Given the description of an element on the screen output the (x, y) to click on. 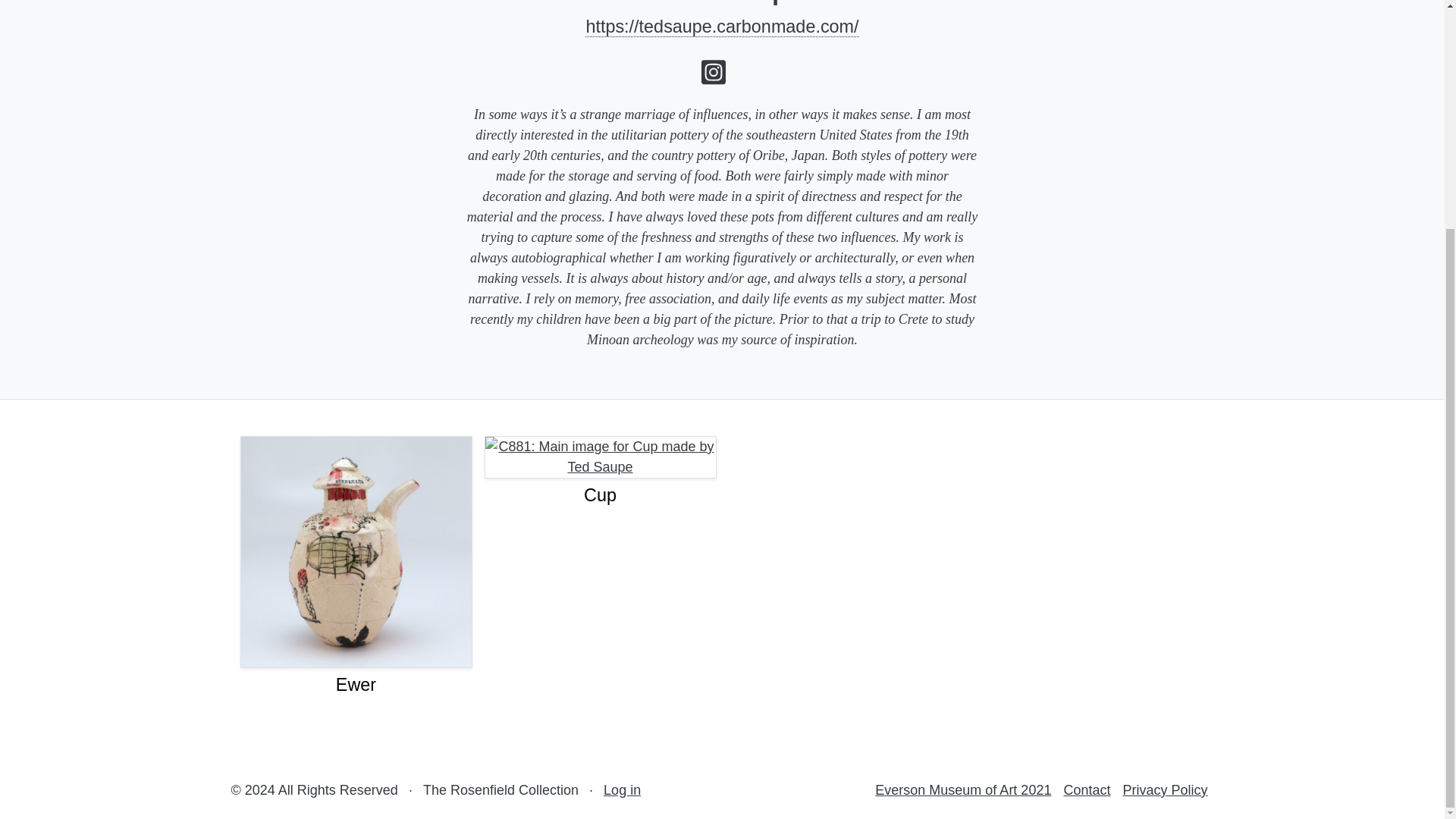
Ewer (355, 684)
Contact (1086, 789)
Log in (622, 789)
Everson Museum of Art 2021 (963, 789)
Cup (599, 495)
Privacy Policy (1164, 789)
